Given the description of an element on the screen output the (x, y) to click on. 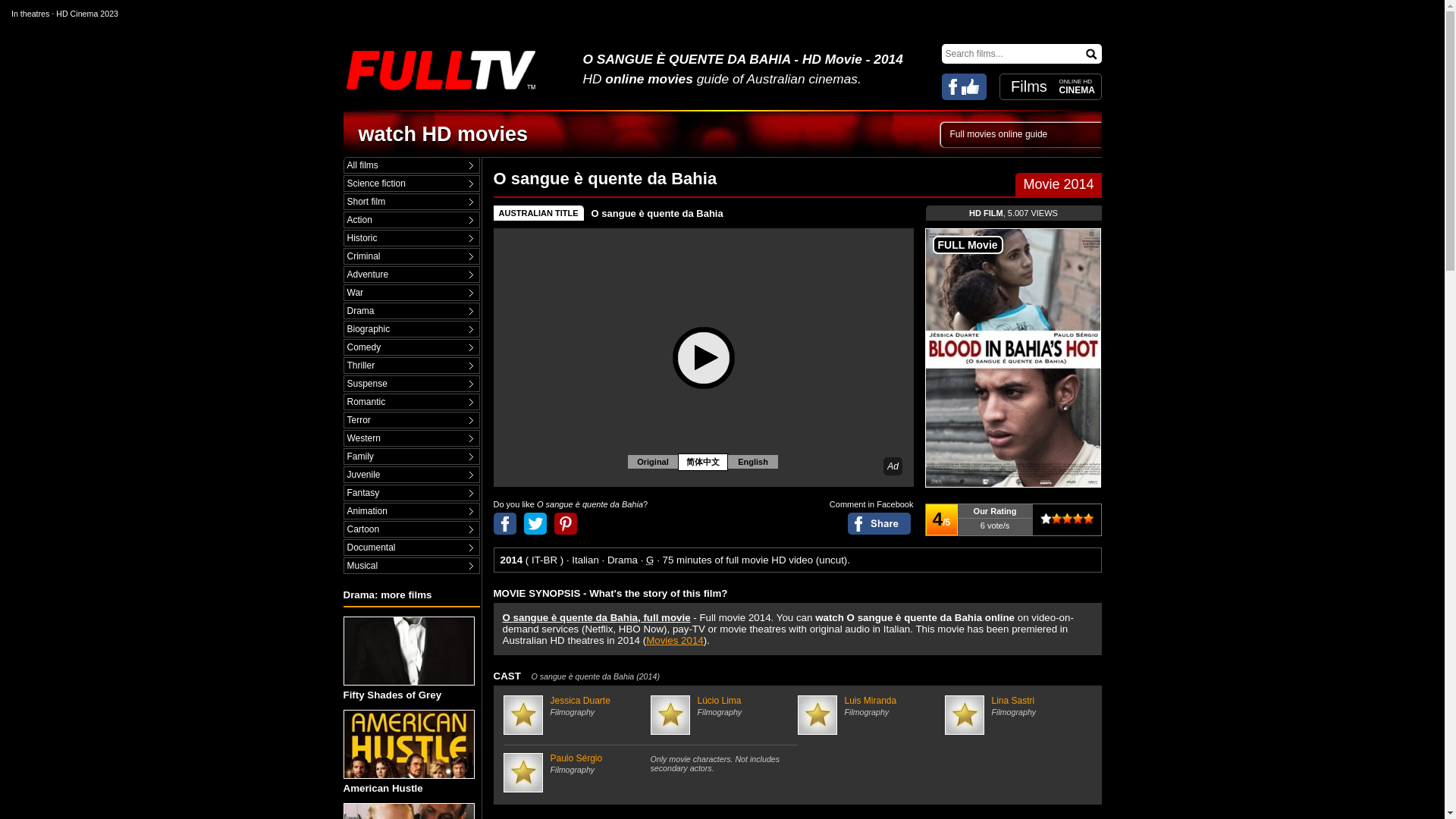
All films (411, 165)
watch HD movies (442, 133)
American Hustle (410, 751)
Fantasy (411, 492)
Criminal (411, 255)
Juvenile (411, 474)
Search (1091, 53)
Family (411, 456)
Documental (411, 547)
Musical (411, 565)
